Given the description of an element on the screen output the (x, y) to click on. 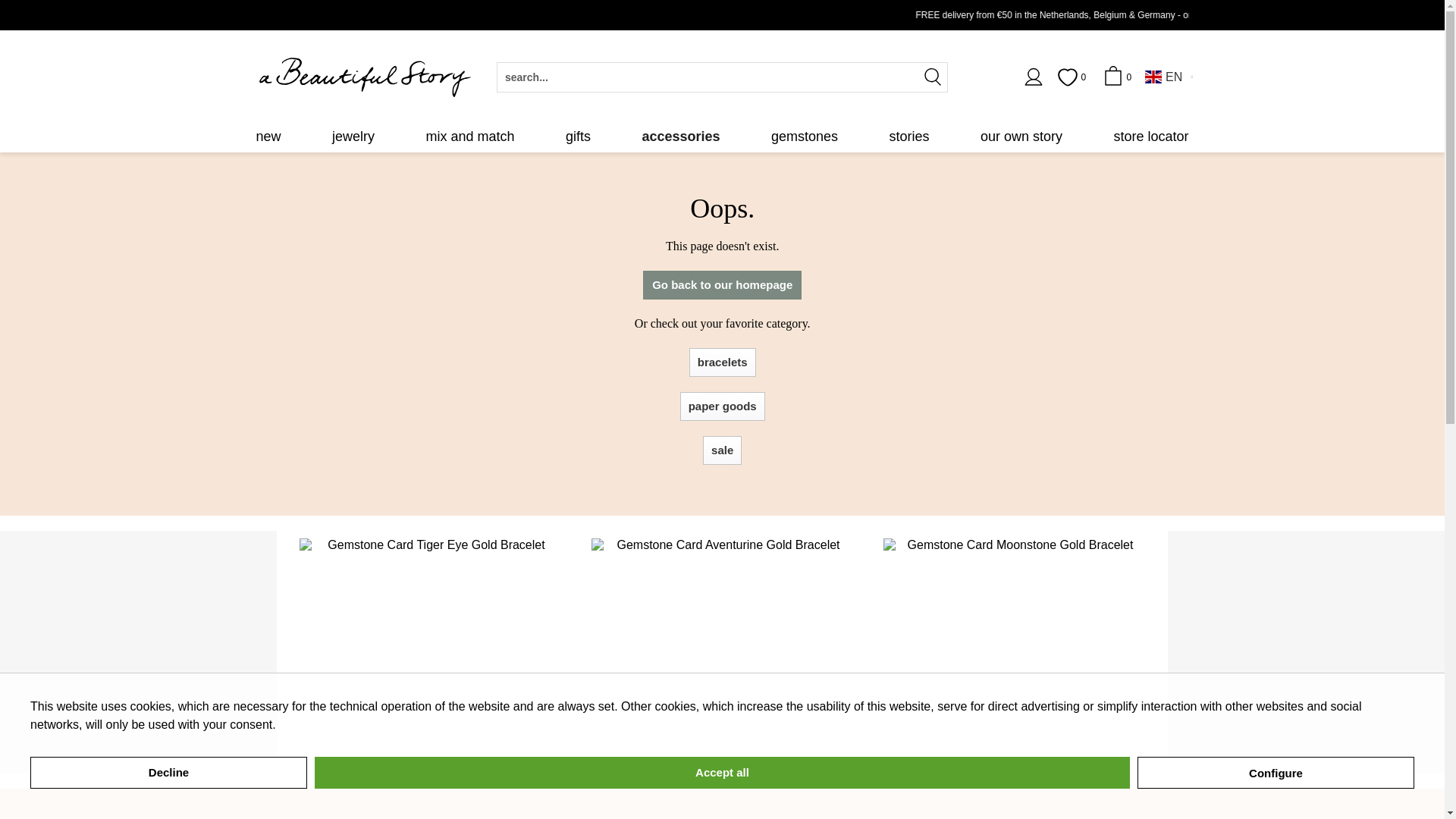
mix and match (469, 136)
mix and match (469, 136)
store locator (1150, 136)
mix and match (469, 136)
gifts (578, 136)
gemstones (804, 136)
accessories (680, 136)
new (268, 136)
0 (1073, 77)
stories (908, 136)
